Given the description of an element on the screen output the (x, y) to click on. 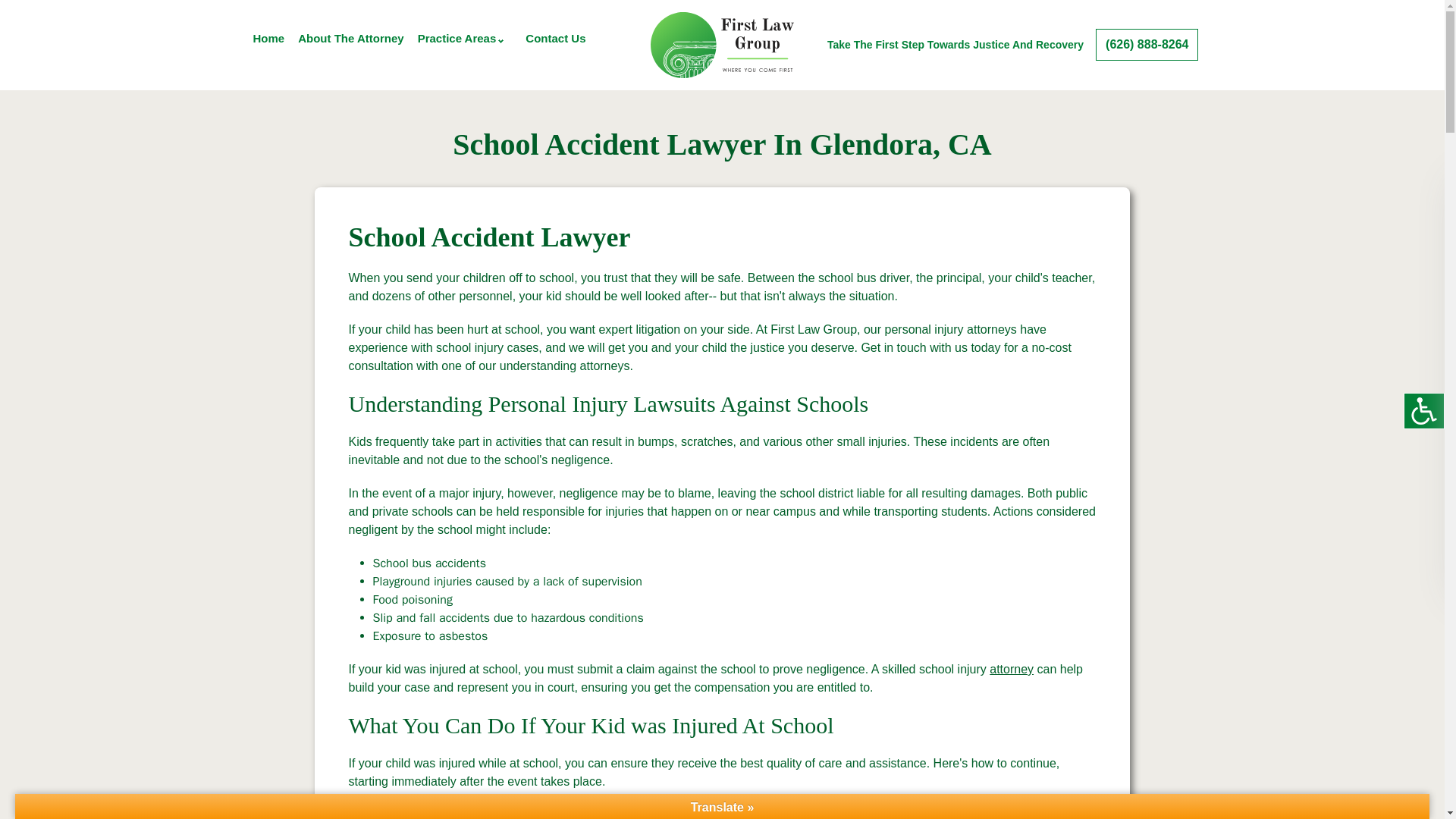
Contact Us (555, 38)
About The Attorney (350, 38)
Practice Areas (456, 38)
Home (269, 38)
attorney (1011, 668)
